Given the description of an element on the screen output the (x, y) to click on. 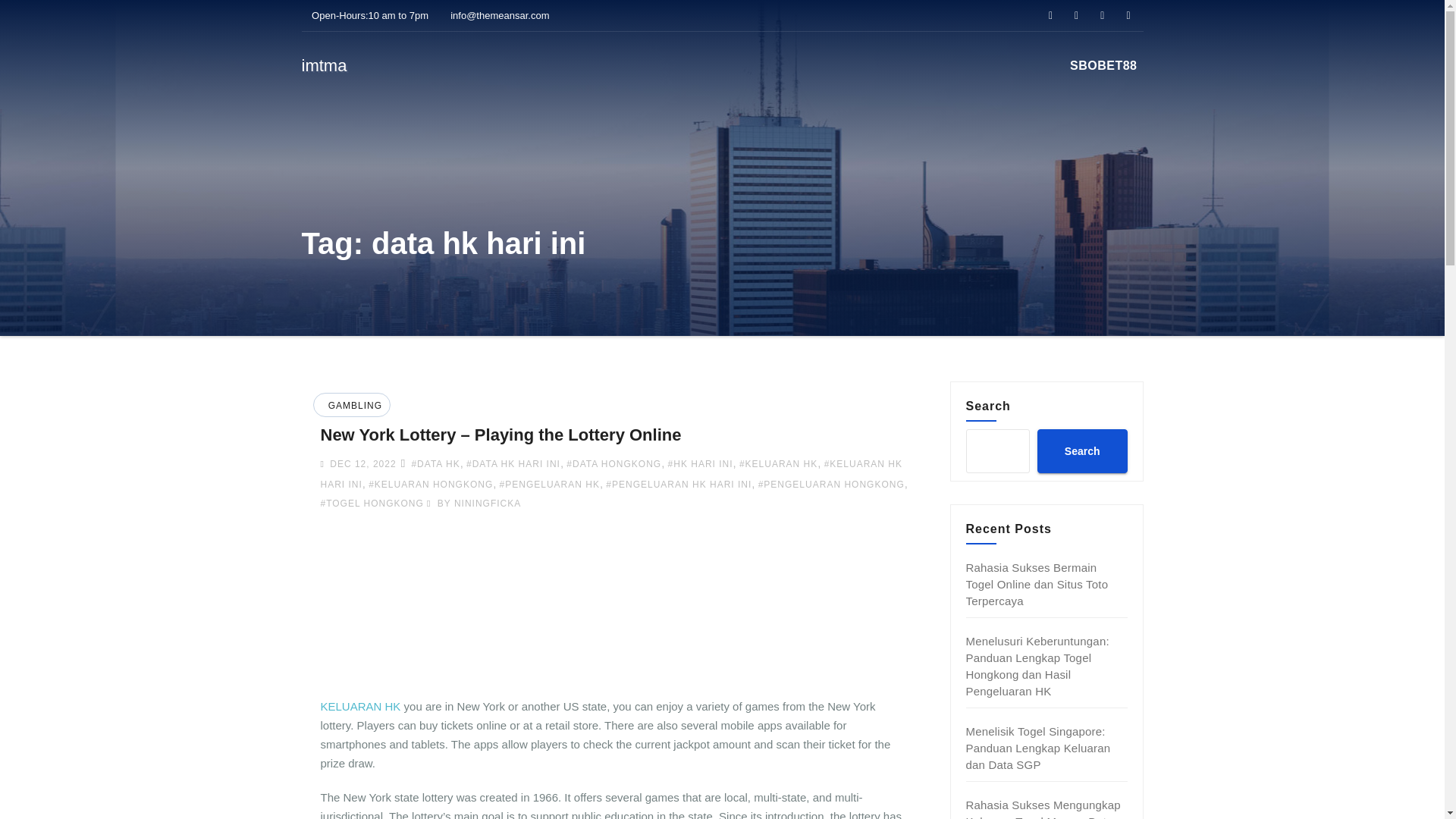
GAMBLING (352, 405)
SBOBET88 (1103, 65)
Open-Hours:10 am to 7pm (365, 15)
Search (1081, 451)
SBOBET88 (1103, 65)
imtma (324, 65)
KELUARAN HK (360, 706)
BY NININGFICKA (473, 502)
DEC 12, 2022 (361, 463)
